Given the description of an element on the screen output the (x, y) to click on. 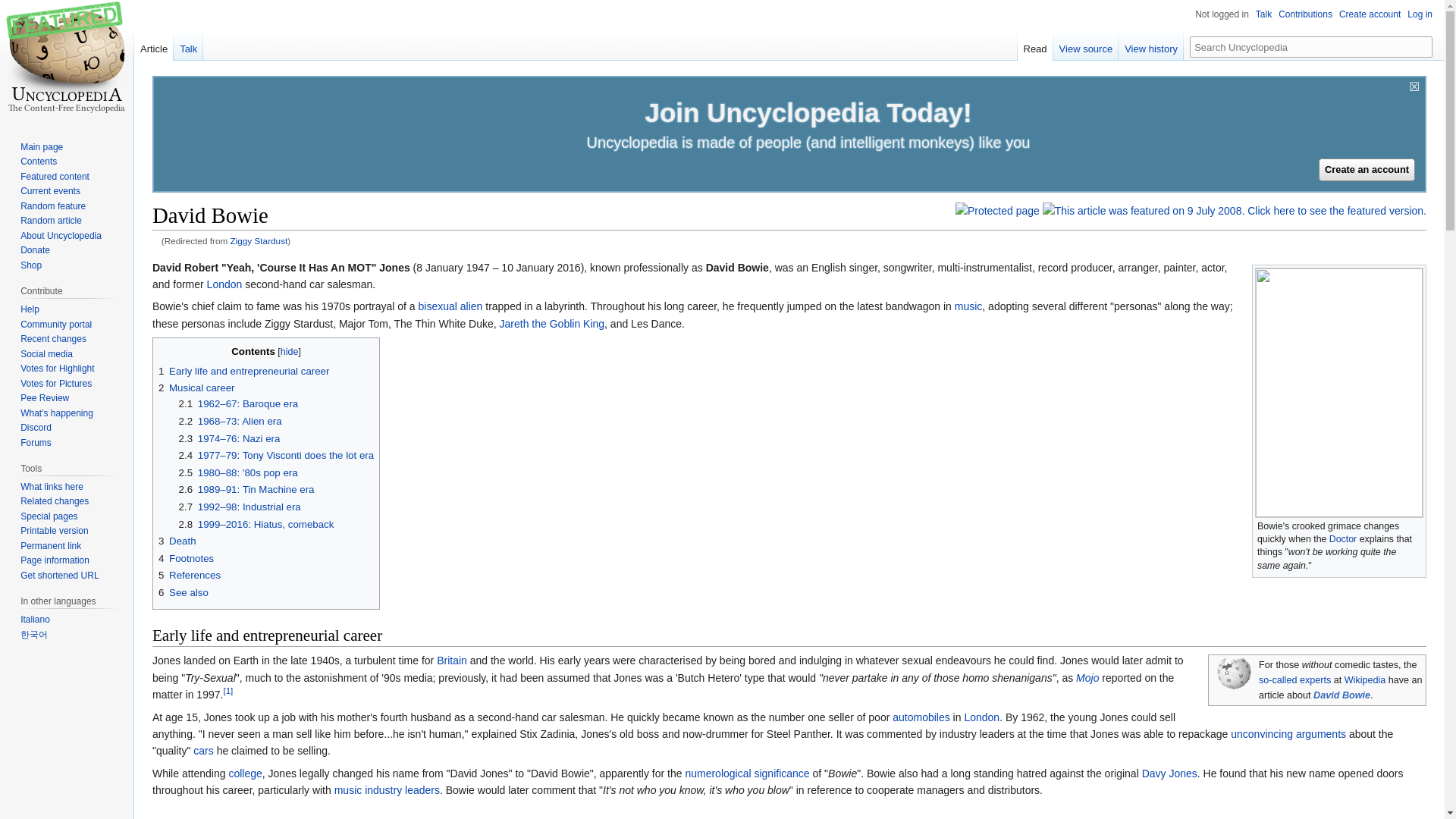
Wikipedia (1364, 679)
Search (1420, 46)
Create an account (1366, 169)
5 References (189, 574)
Alien (471, 306)
Enlarge (1415, 524)
Mojo (1087, 677)
alien (471, 306)
Join Uncyclopedia Today! (808, 112)
